Given the description of an element on the screen output the (x, y) to click on. 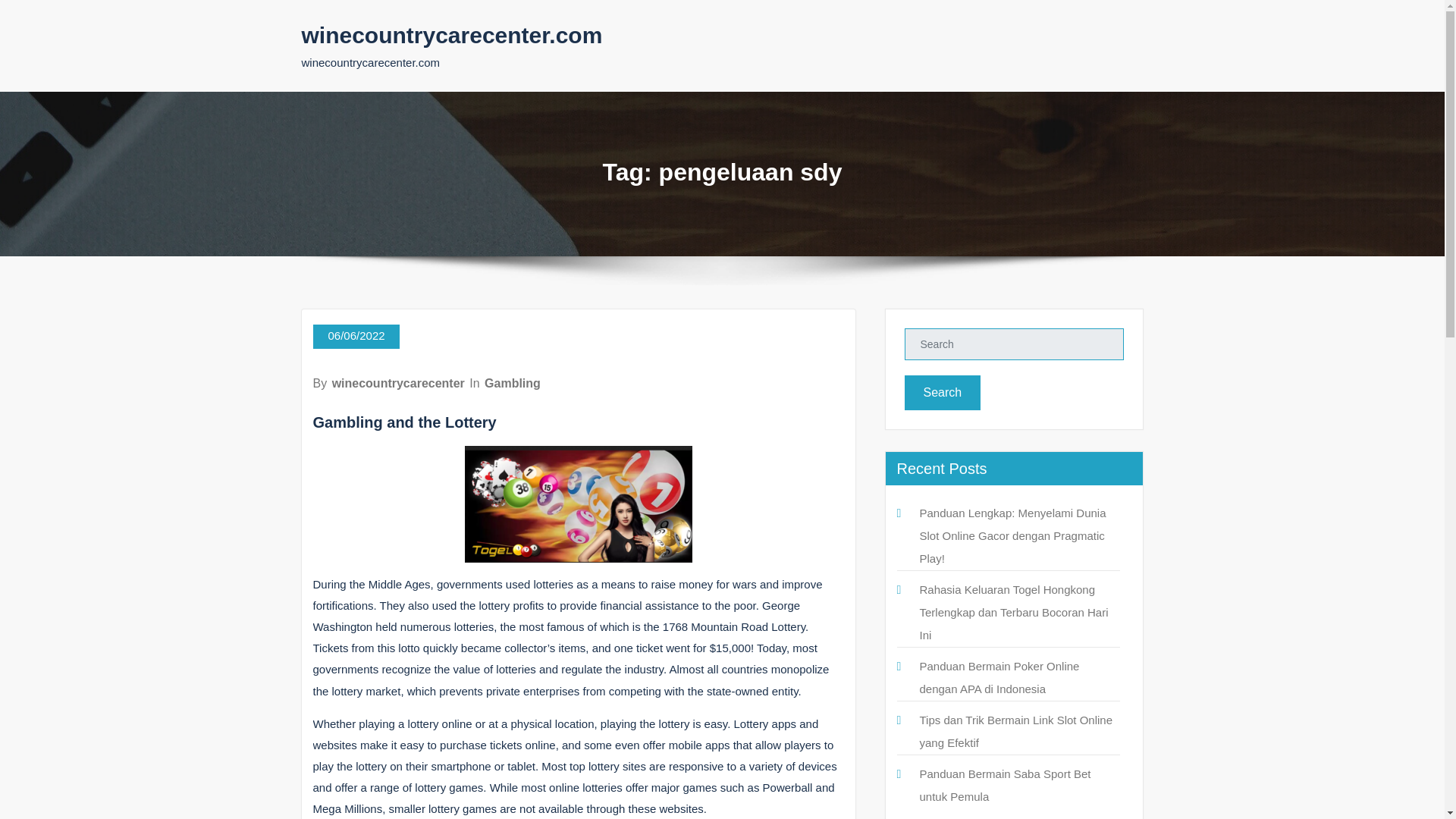
Panduan Bermain Poker Online dengan APA di Indonesia (998, 677)
Tips dan Trik Bermain Link Slot Online yang Efektif (1015, 731)
Panduan Bermain Saba Sport Bet untuk Pemula (1004, 785)
Search (941, 392)
Gambling (512, 382)
Gambling and the Lottery (404, 422)
winecountrycarecenter.com (451, 34)
winecountrycarecenter (397, 382)
